Given the description of an element on the screen output the (x, y) to click on. 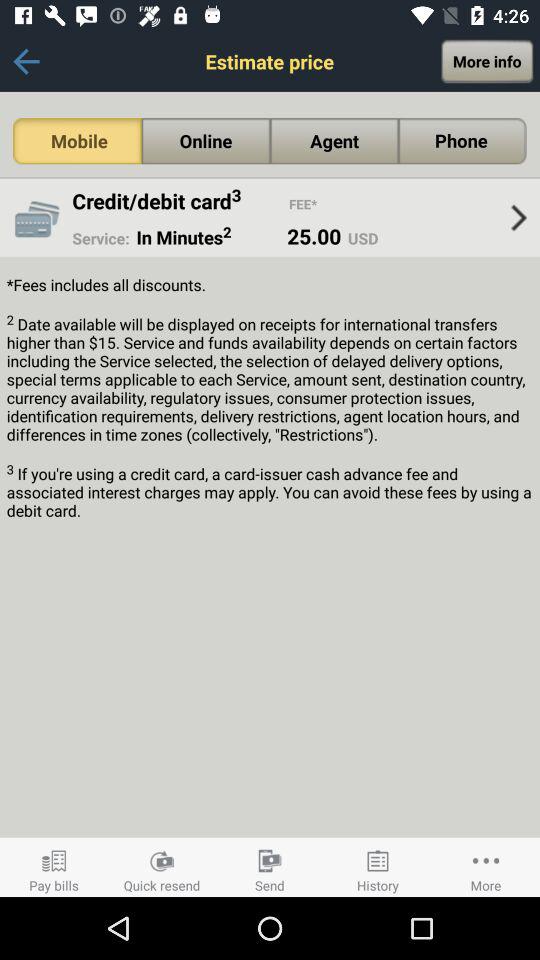
select the item above phone (487, 61)
